Given the description of an element on the screen output the (x, y) to click on. 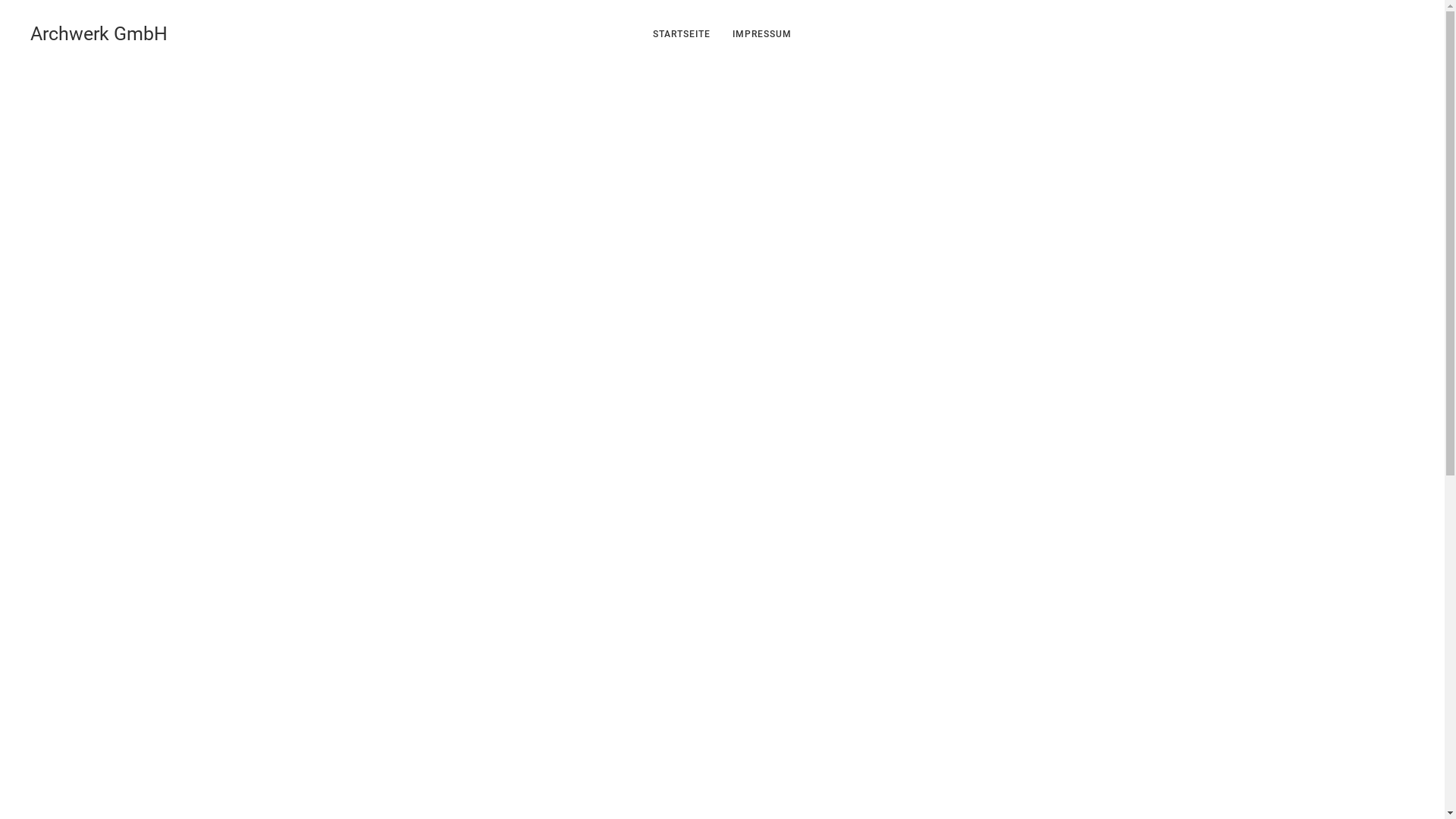
STARTSEITE Element type: text (681, 34)
Archwerk GmbH Element type: text (98, 34)
IMPRESSUM Element type: text (761, 34)
